Given the description of an element on the screen output the (x, y) to click on. 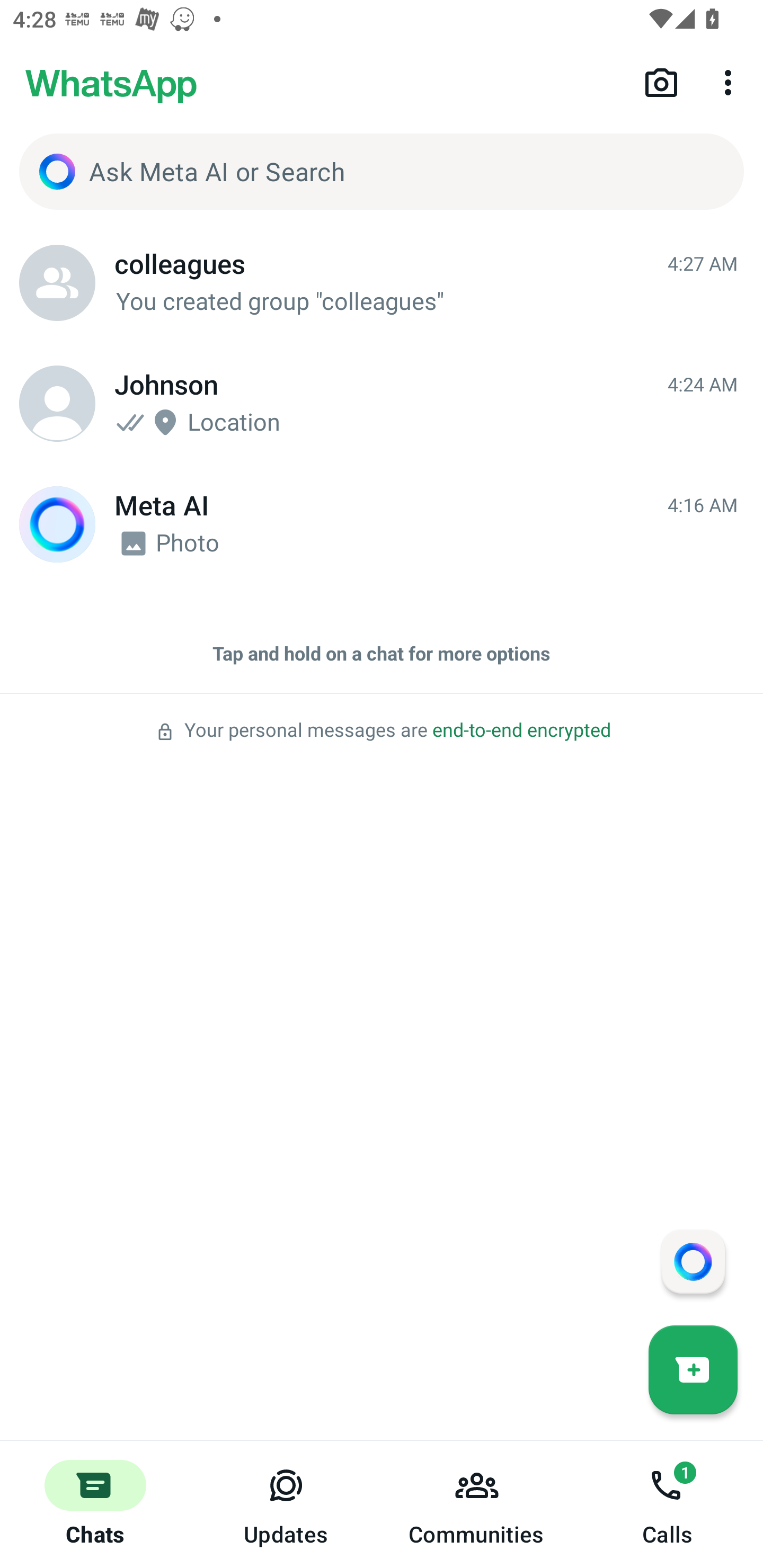
Camera (661, 81)
More options (731, 81)
colleagues (57, 282)
Johnson Johnson 4:24 AM 4:24 AM Location (381, 403)
Johnson (57, 403)
Meta AI Meta AI 4:16 AM 4:16 AM Photo (381, 524)
Meta AI (57, 524)
end-to-end encrypted (521, 730)
Message your assistant (692, 1261)
New chat (692, 1369)
Updates (285, 1504)
Communities (476, 1504)
Calls, 1 new notification Calls (667, 1504)
